Given the description of an element on the screen output the (x, y) to click on. 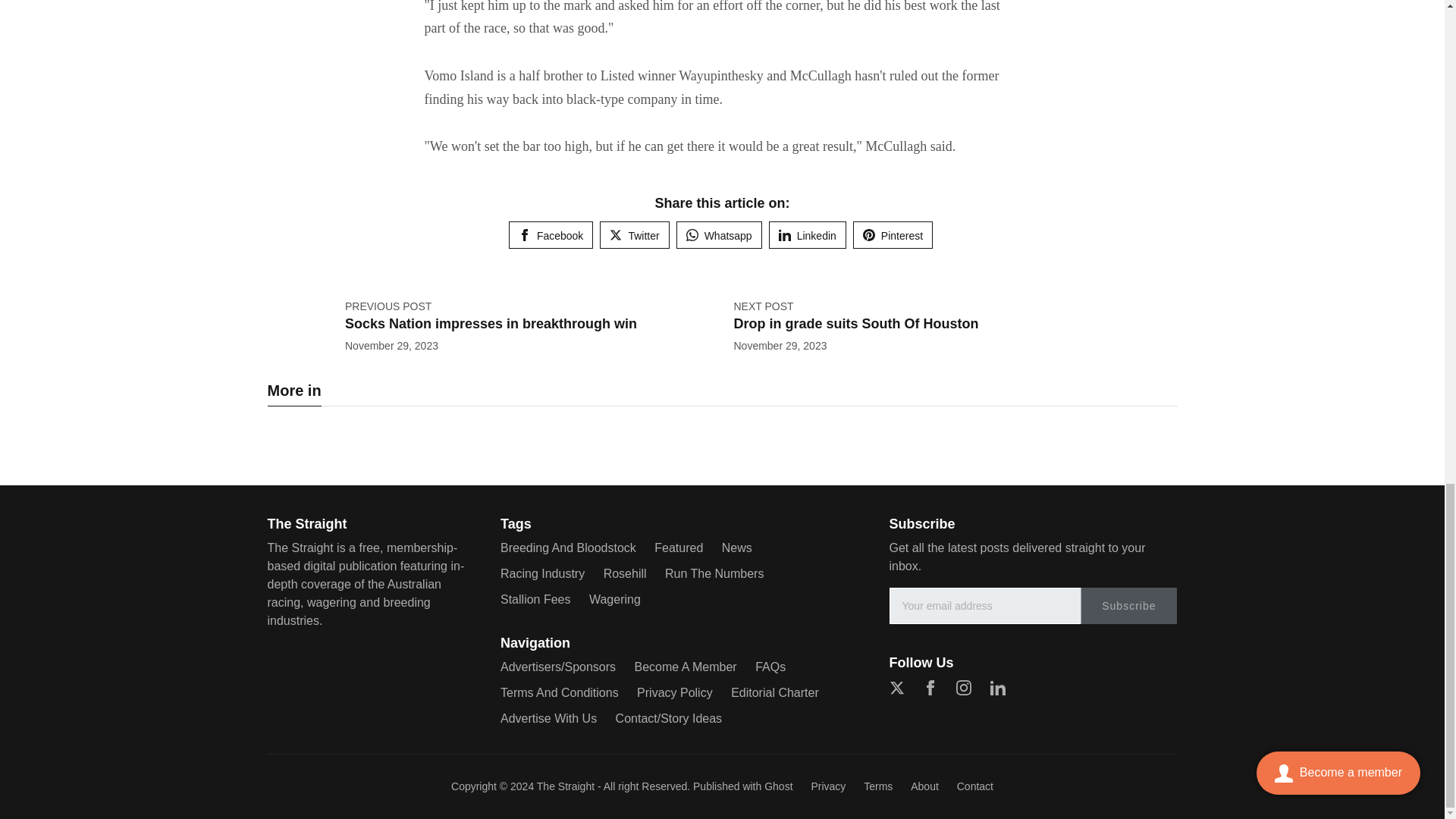
Whatsapp (719, 234)
Linkedin (806, 234)
29 November, 2023 (391, 345)
NEXT POST (763, 306)
Pinterest (893, 234)
Share on Twitter (633, 234)
Twitter (633, 234)
Socks Nation impresses in breakthrough win (491, 323)
Share on Linkedin (806, 234)
Share on Facebook (550, 234)
